Given the description of an element on the screen output the (x, y) to click on. 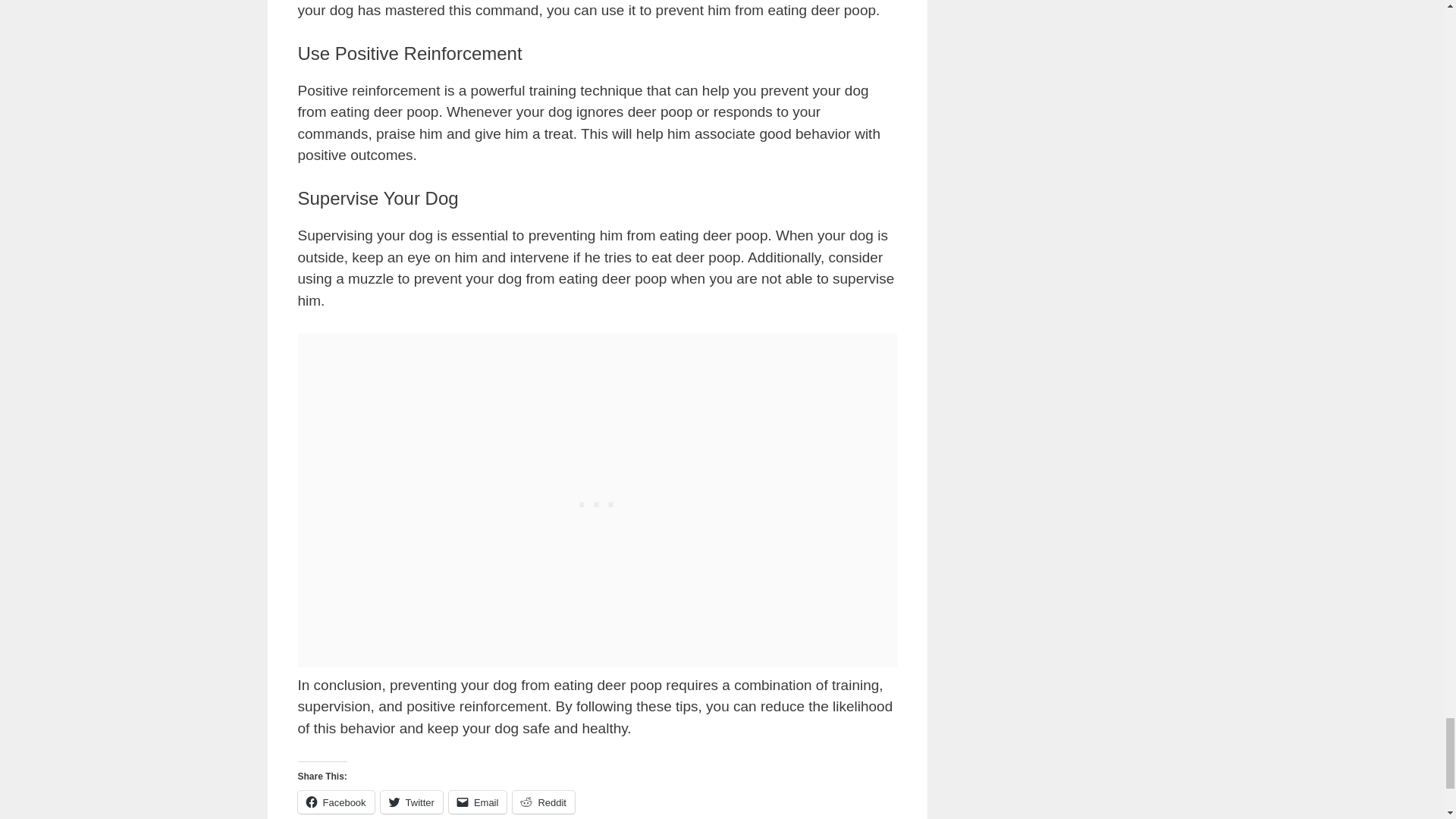
Reddit (543, 802)
Click to email a link to a friend (477, 802)
Email (477, 802)
Click to share on Reddit (543, 802)
Click to share on Facebook (335, 802)
Facebook (335, 802)
Click to share on Twitter (411, 802)
Twitter (411, 802)
